Given the description of an element on the screen output the (x, y) to click on. 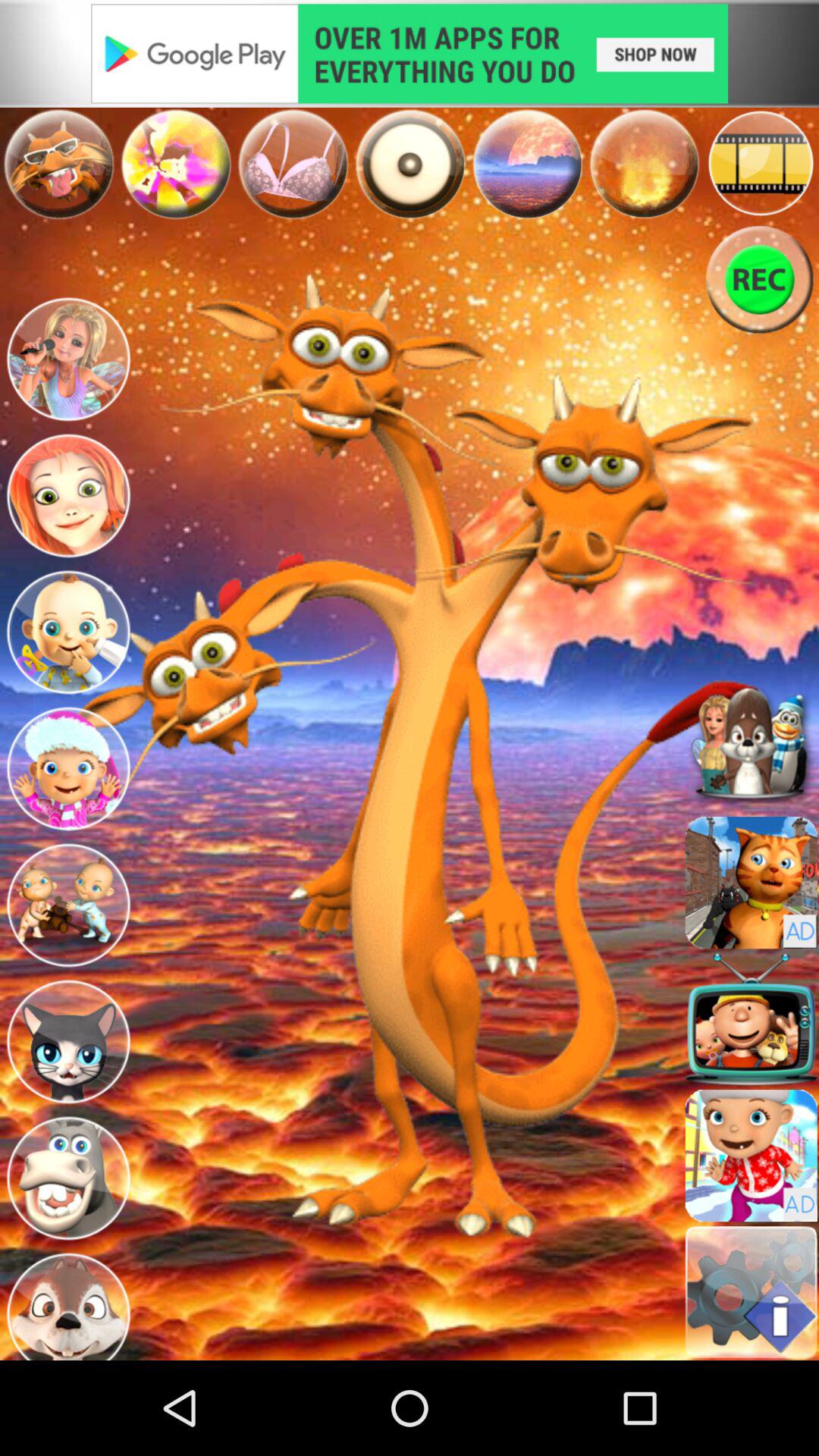
make a gong sound (409, 163)
